Given the description of an element on the screen output the (x, y) to click on. 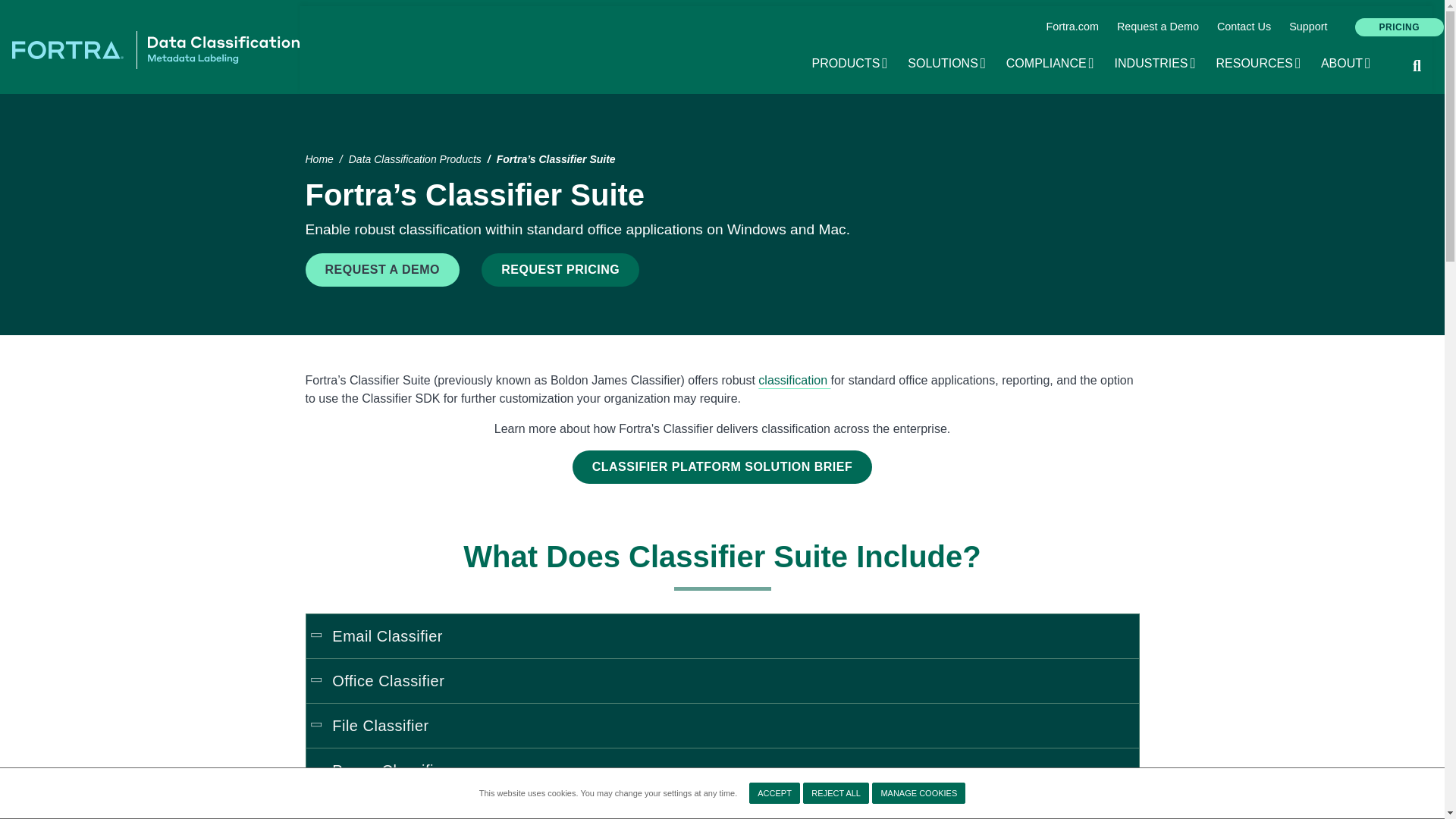
Skip to main content (721, 1)
Support (1307, 27)
REJECT ALL (836, 793)
Home (155, 48)
MANAGE COOKIES (918, 793)
Contact Us (1243, 27)
Data Classification (793, 379)
ACCEPT (774, 793)
Request a Demo (1158, 27)
